Given the description of an element on the screen output the (x, y) to click on. 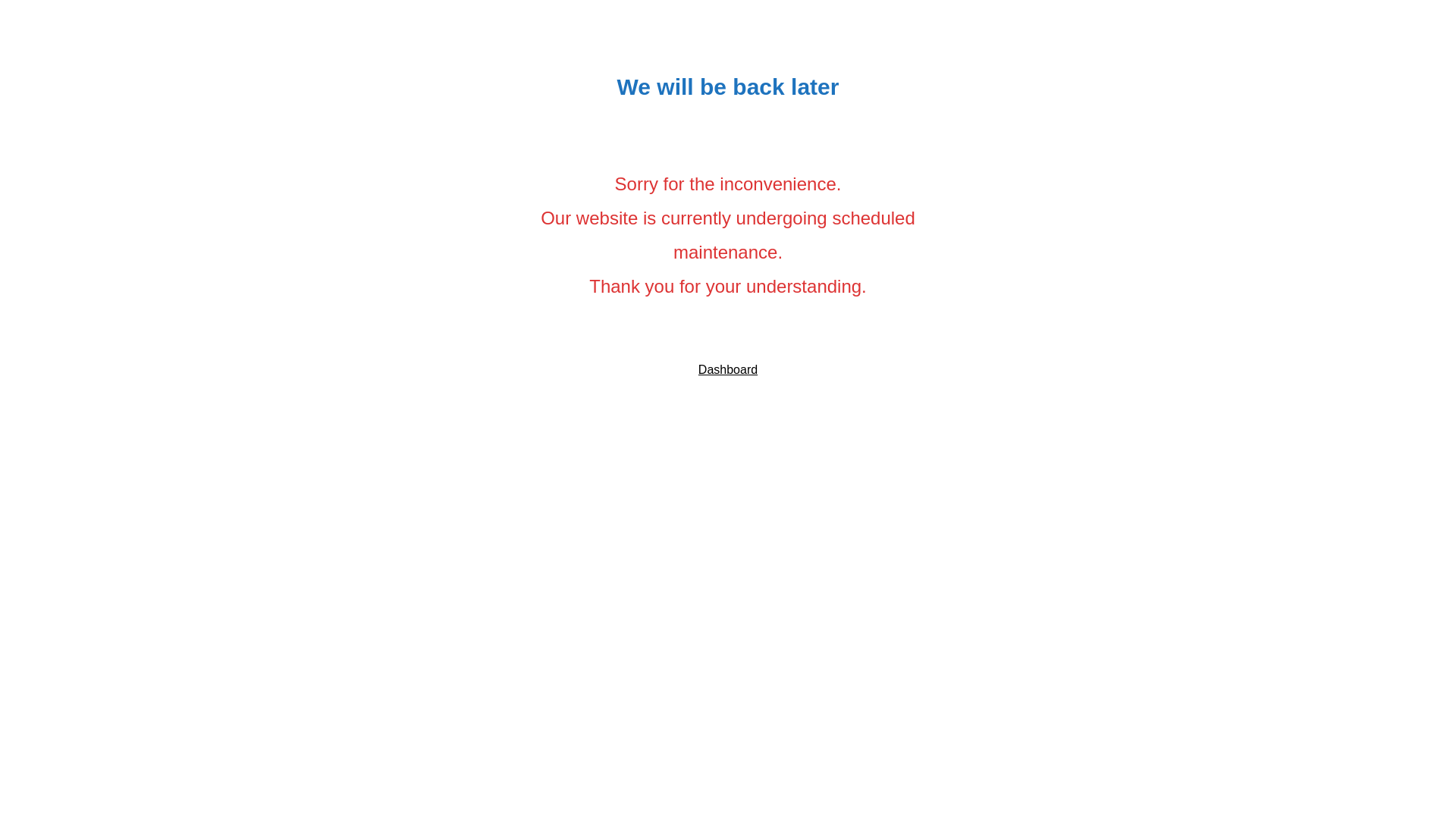
Dashboard Element type: text (727, 369)
